Given the description of an element on the screen output the (x, y) to click on. 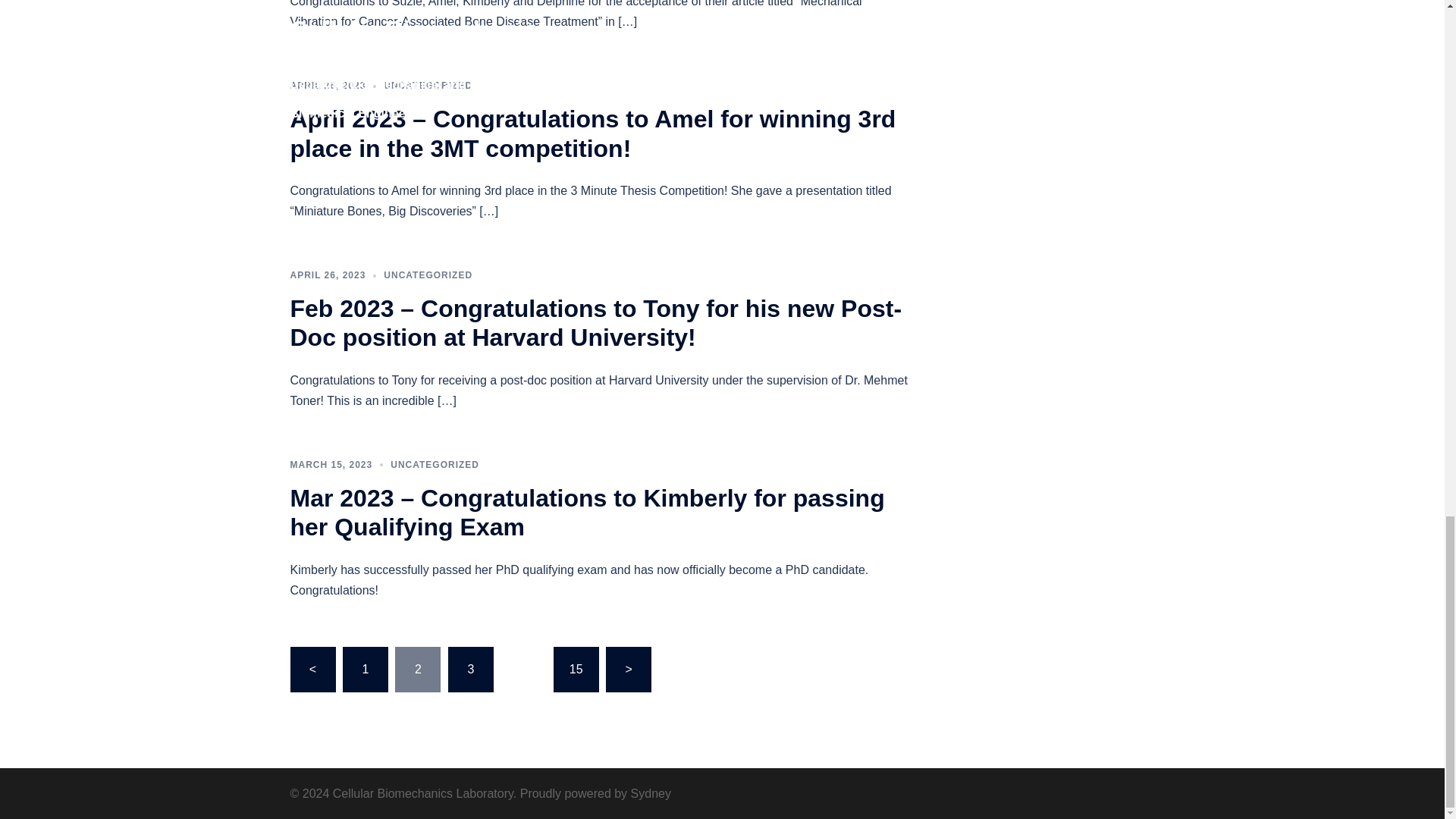
UNCATEGORIZED (427, 275)
APRIL 26, 2023 (327, 275)
APRIL 26, 2023 (327, 85)
UNCATEGORIZED (427, 85)
